Given the description of an element on the screen output the (x, y) to click on. 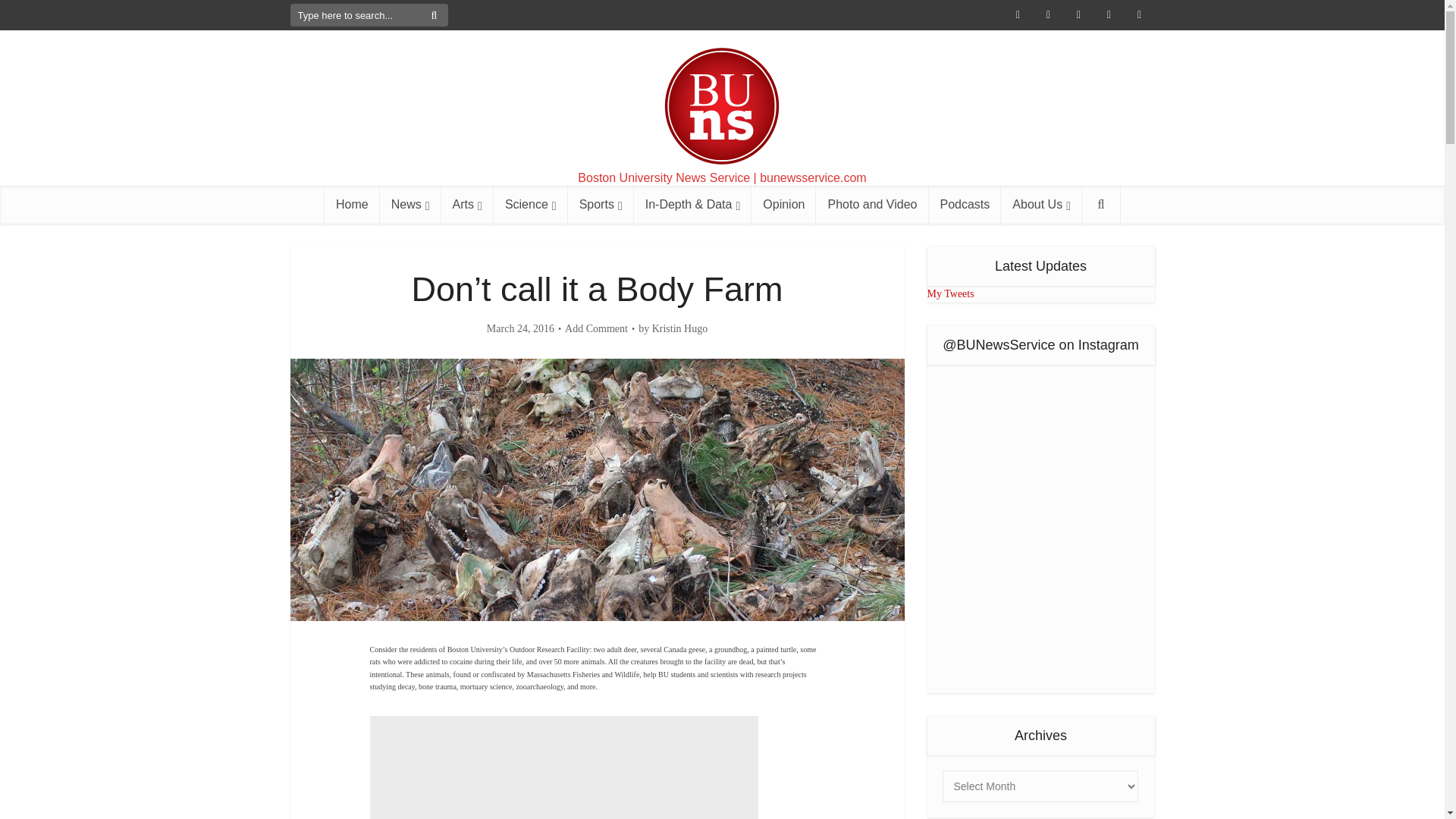
Arts (467, 204)
Kristin Hugo (679, 328)
Opinion (783, 204)
Science (530, 204)
Sports (600, 204)
Podcasts (964, 204)
Type here to search... (367, 15)
Photo and Video (871, 204)
Type here to search... (367, 15)
Home (352, 204)
About Us (1041, 204)
News (410, 204)
Add Comment (595, 328)
